Given the description of an element on the screen output the (x, y) to click on. 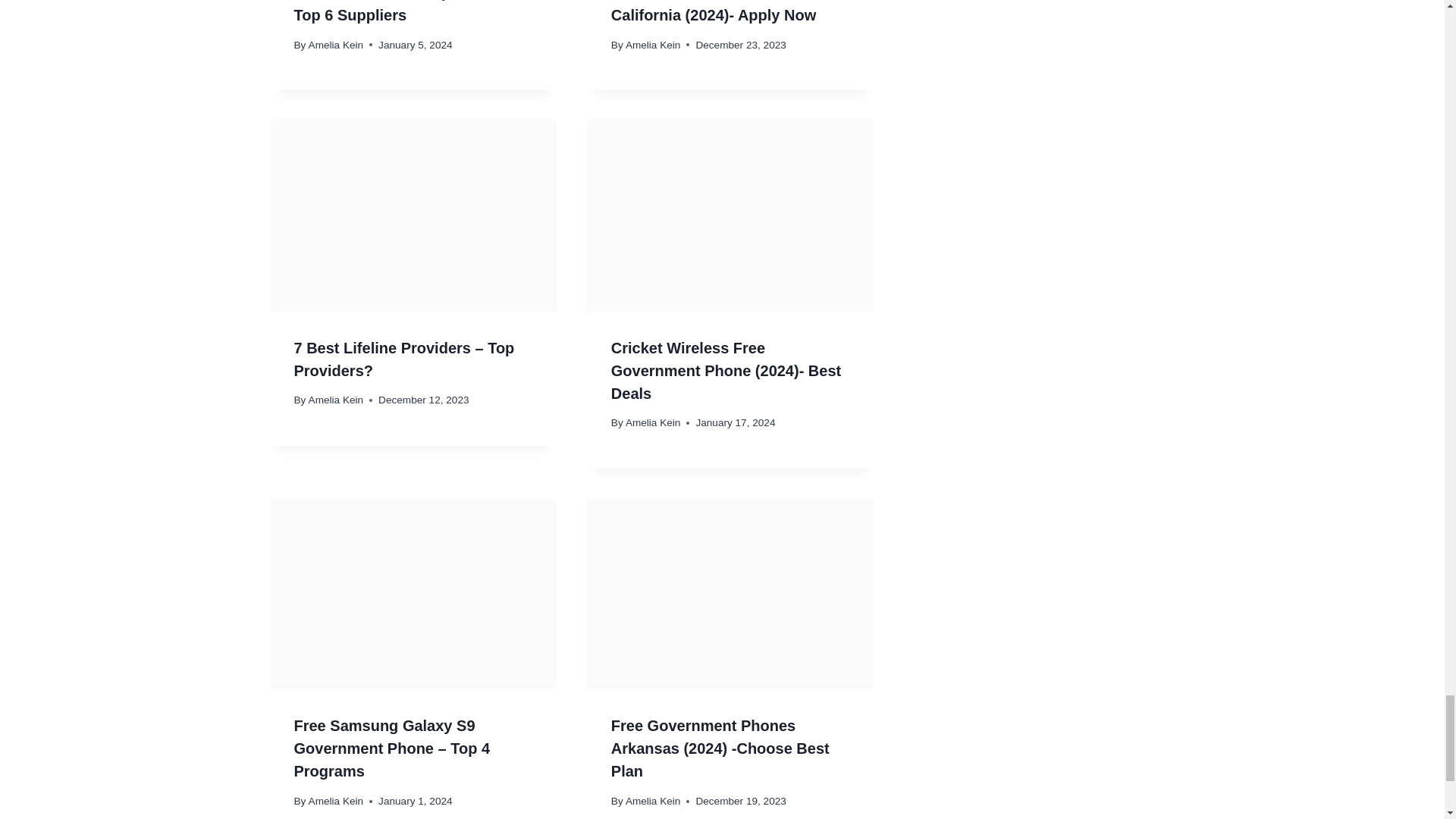
Free Samsung Galaxy S9 Government Phone - Top 4 Programs 8 (412, 594)
7 Best Lifeline Providers - Top Providers? 6 (412, 216)
